Given the description of an element on the screen output the (x, y) to click on. 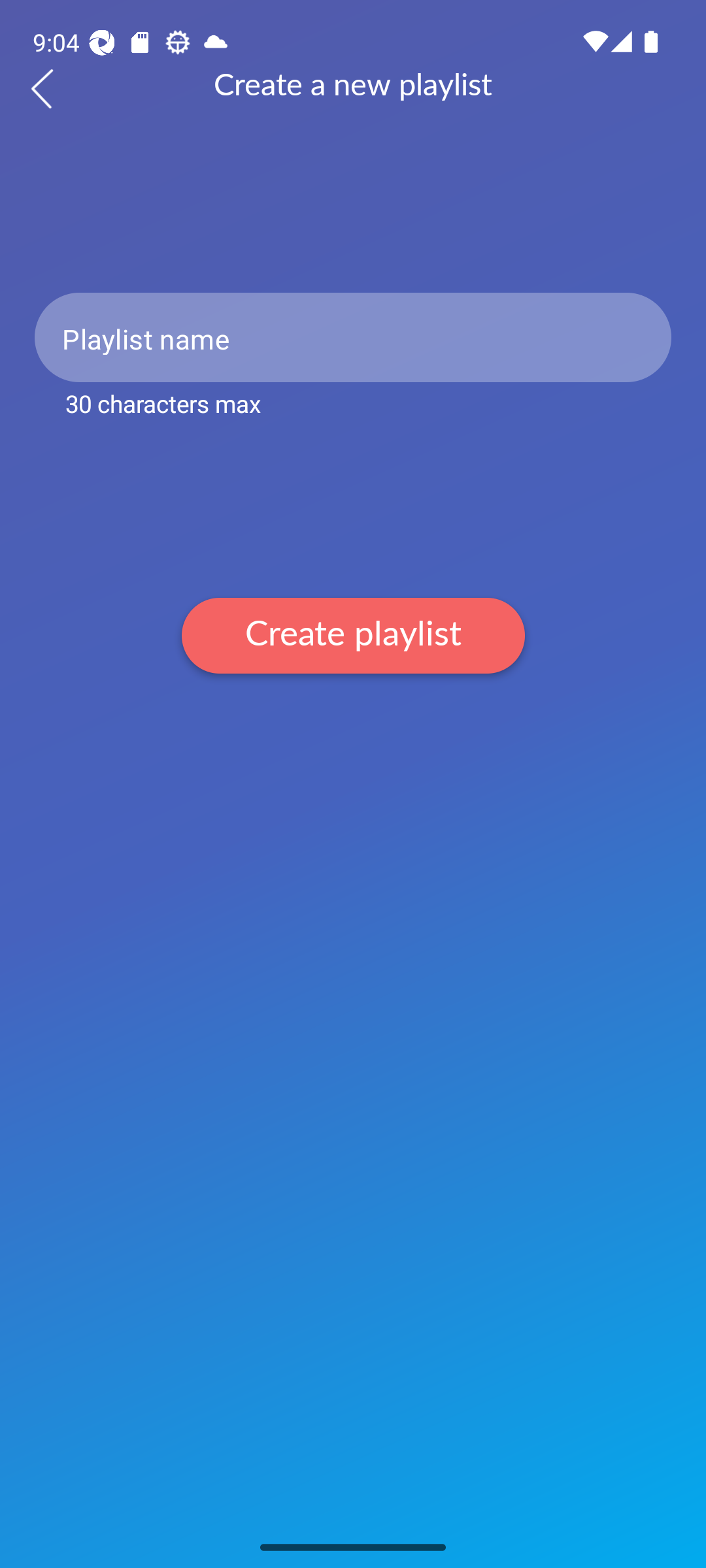
Playlist name (352, 337)
Create playlist (353, 634)
